Given the description of an element on the screen output the (x, y) to click on. 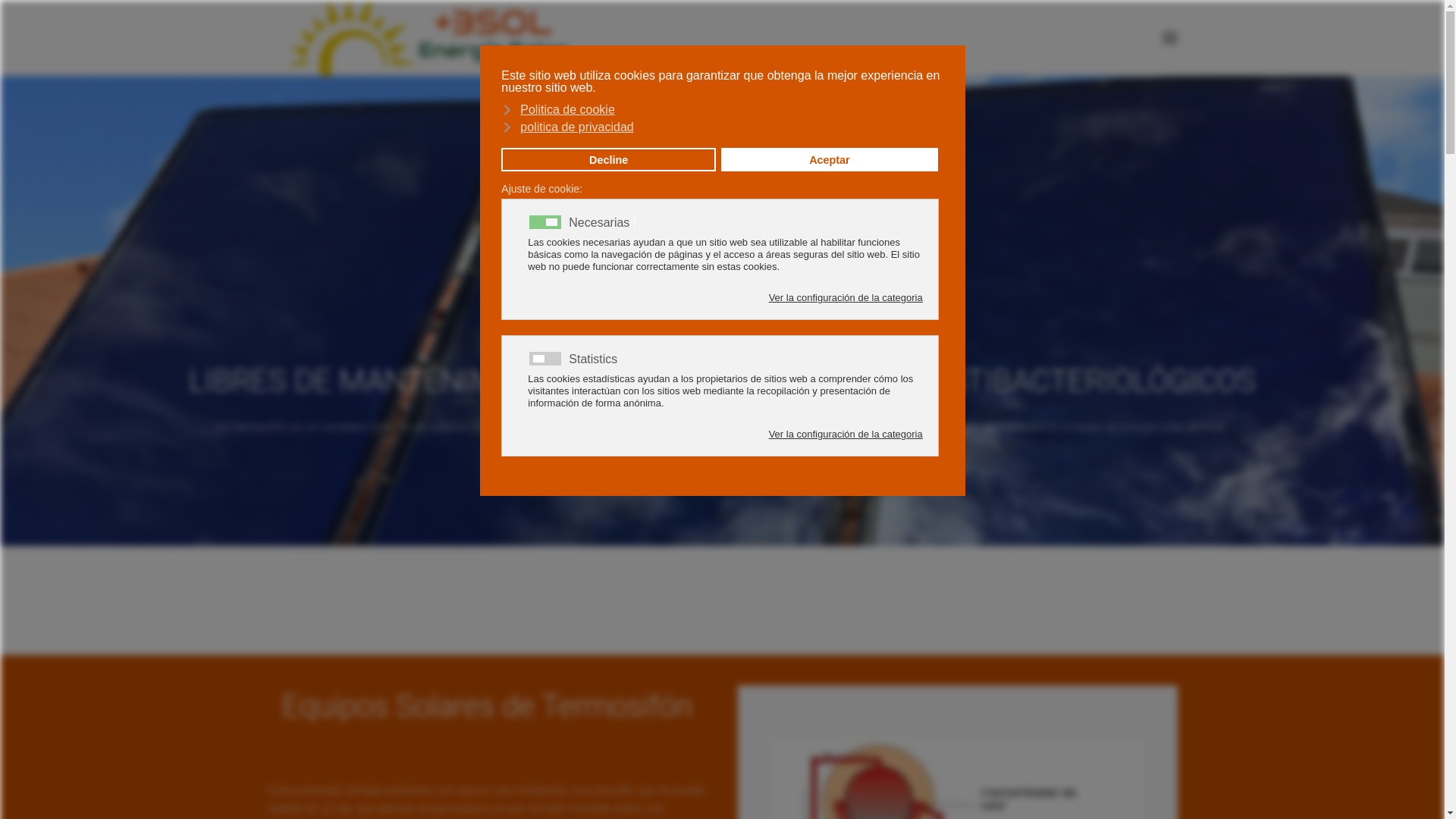
Necesarias Element type: text (601, 221)
Politica de cookie Element type: text (720, 109)
politica de privacidad Element type: text (720, 126)
Statistics Element type: text (594, 358)
Aceptar Element type: text (829, 159)
Decline Element type: text (608, 159)
